Given the description of an element on the screen output the (x, y) to click on. 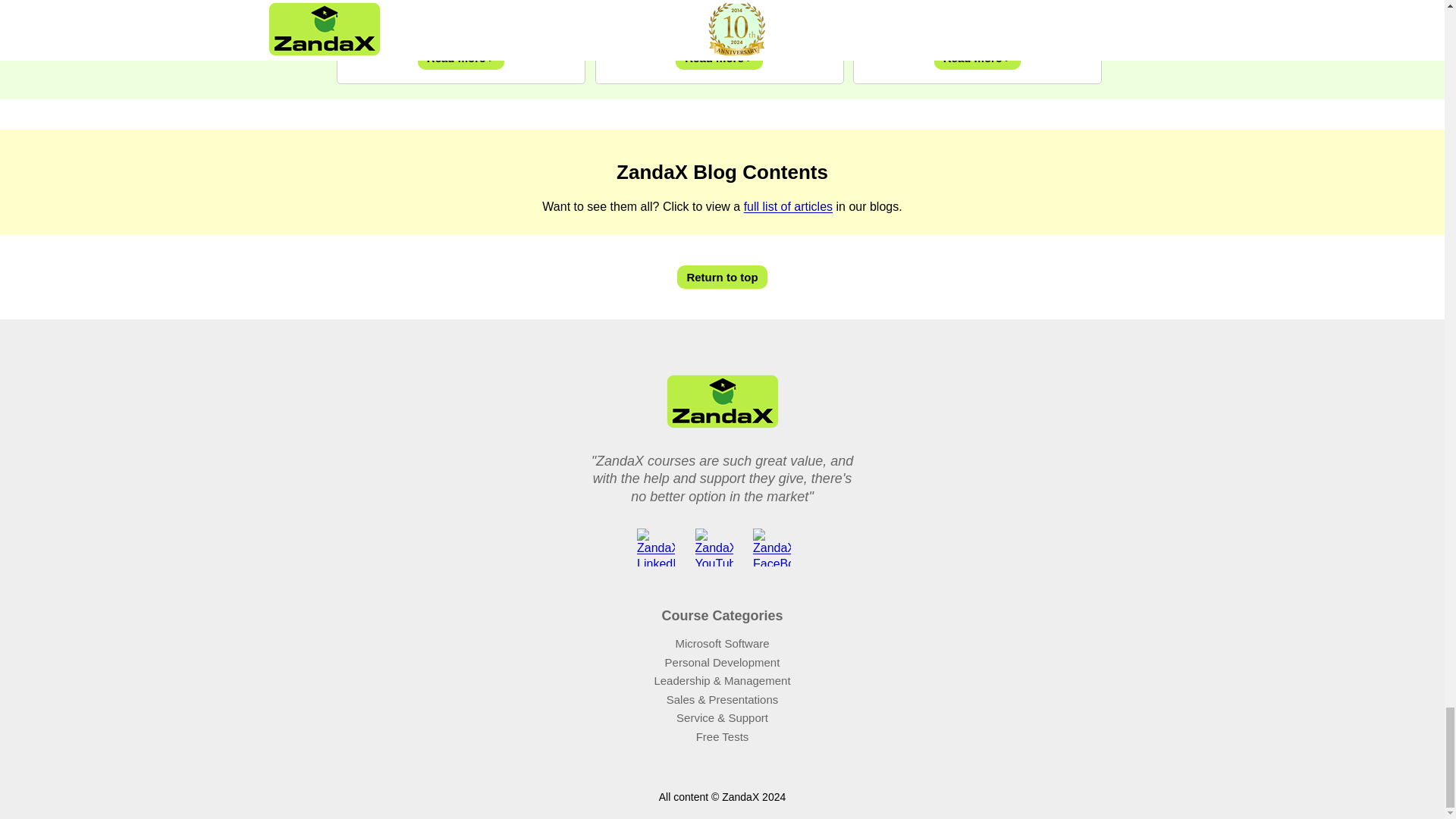
Return to top (722, 318)
full list of articles (788, 246)
Return to top (722, 318)
